Given the description of an element on the screen output the (x, y) to click on. 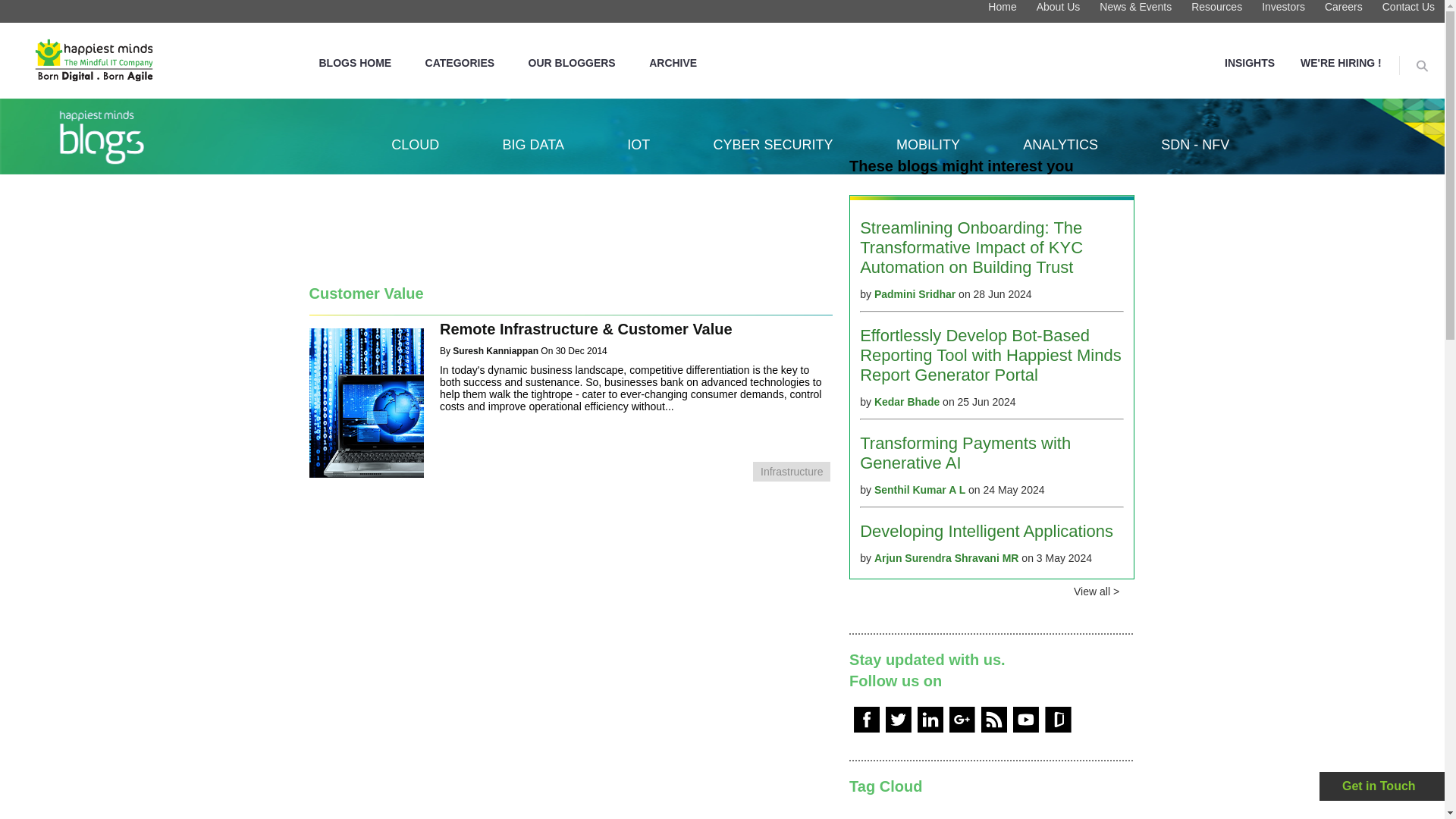
contact us (1383, 786)
About Us (1058, 10)
BLOGS HOME (354, 62)
Happiest Minds (93, 59)
Posts by Suresh Kanniappan (495, 350)
WE'RE HIRING ! (1340, 62)
Home (1002, 10)
Investors (1283, 10)
INSIGHTS (1249, 62)
Careers (1343, 10)
